Given the description of an element on the screen output the (x, y) to click on. 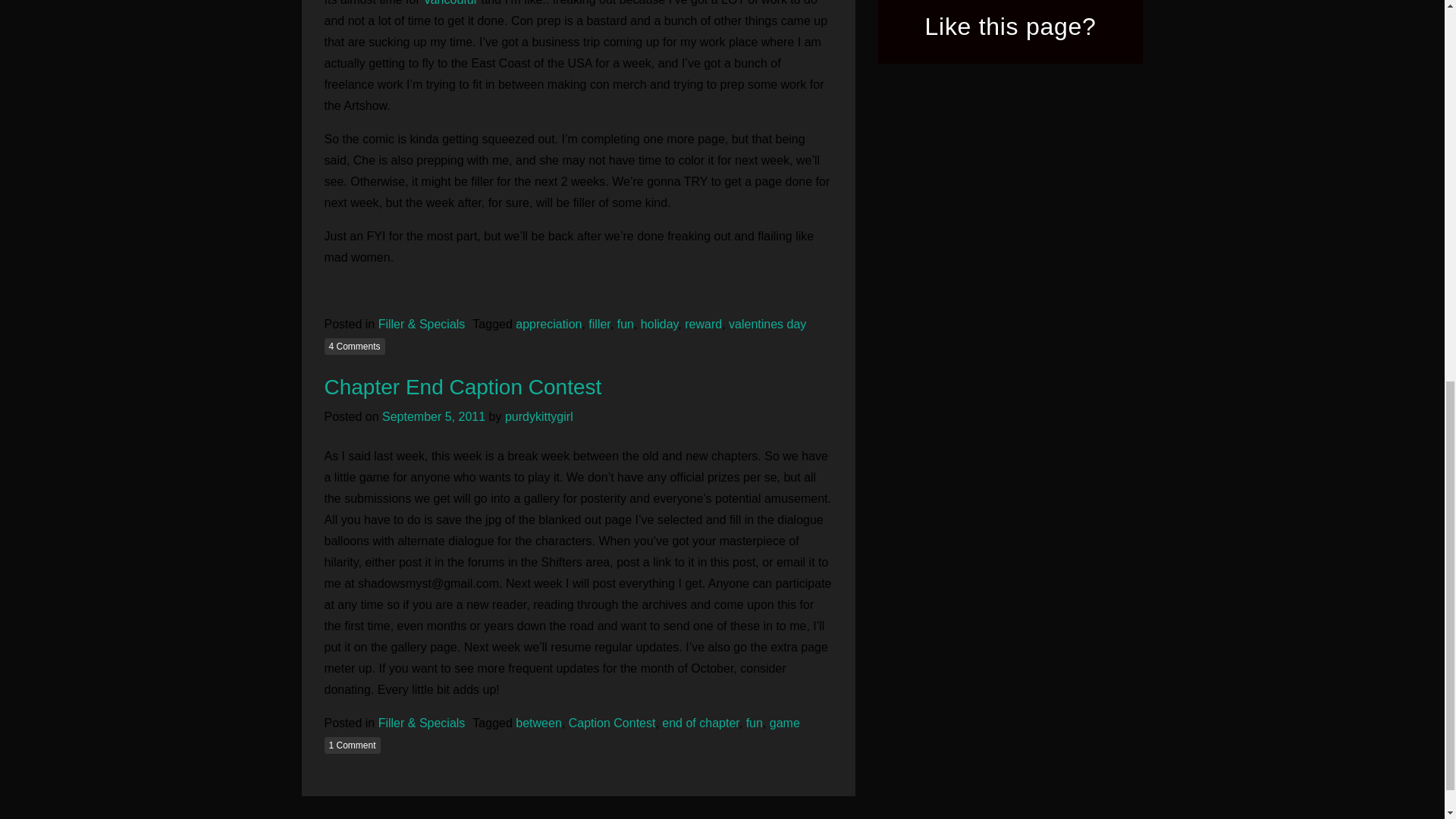
4 Comments (354, 346)
Vancoufur (451, 2)
reward (703, 323)
September 5, 2011 (432, 416)
appreciation (547, 323)
end of chapter (700, 722)
filler (599, 323)
valentines day (767, 323)
purdykittygirl (539, 416)
Caption Contest (612, 722)
Chapter End Caption Contest (463, 386)
fun (625, 323)
between (538, 722)
holiday (659, 323)
